Given the description of an element on the screen output the (x, y) to click on. 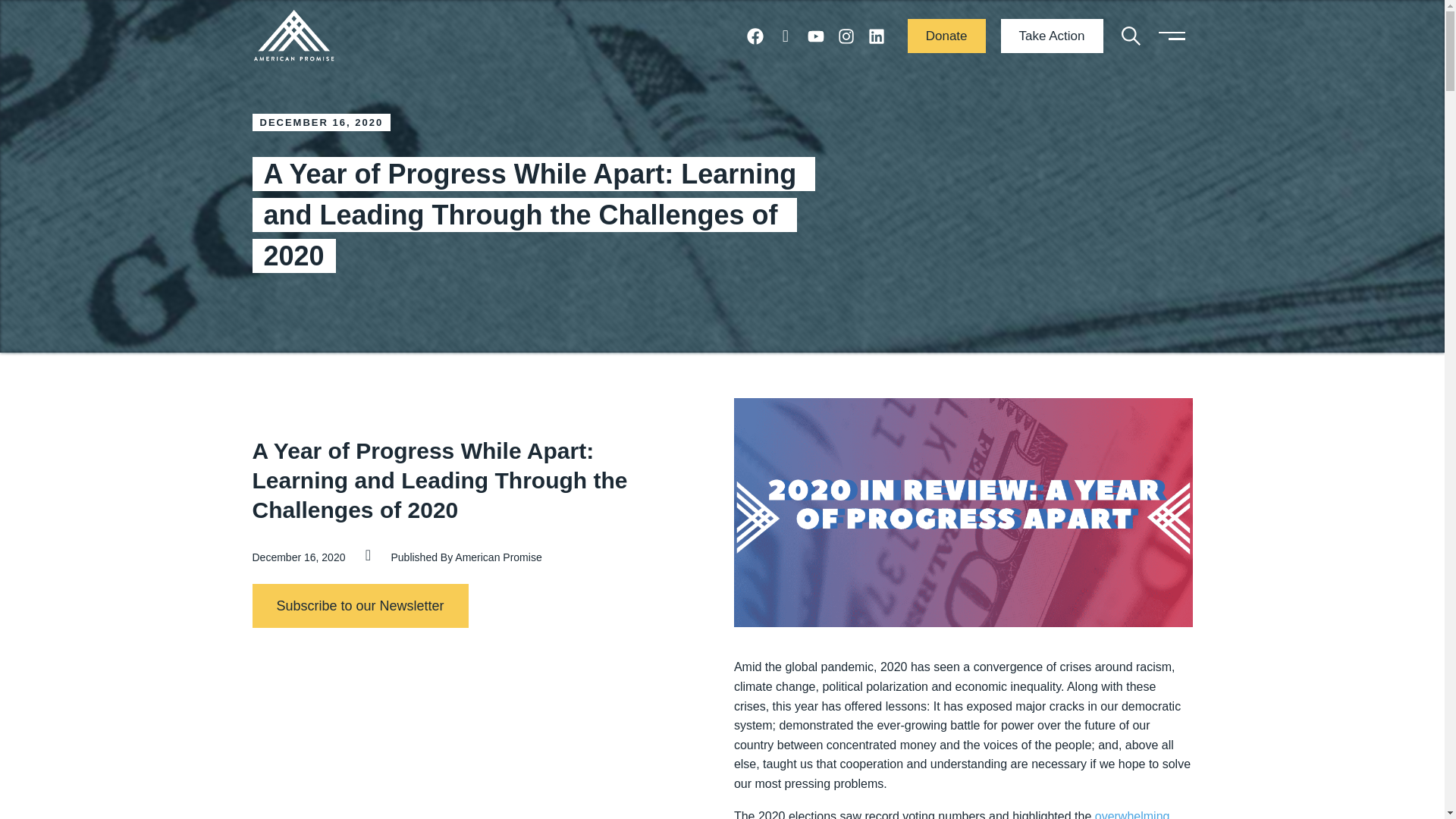
overwhelming influence of money in politics (951, 814)
Take Action (1052, 35)
Subscribe to our Newsletter (359, 605)
Donate (946, 35)
